Given the description of an element on the screen output the (x, y) to click on. 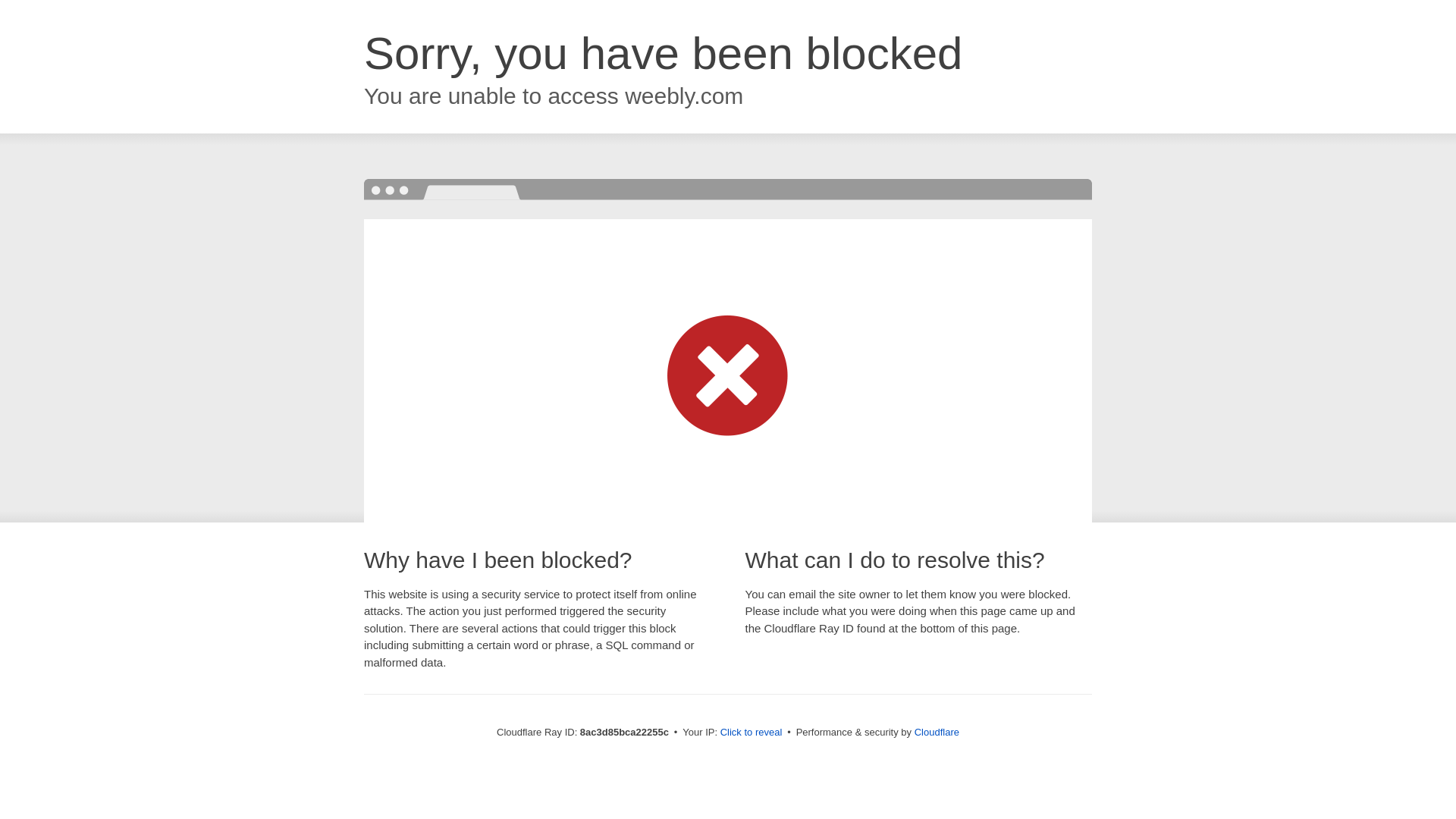
Click to reveal (751, 732)
Cloudflare (936, 731)
